Given the description of an element on the screen output the (x, y) to click on. 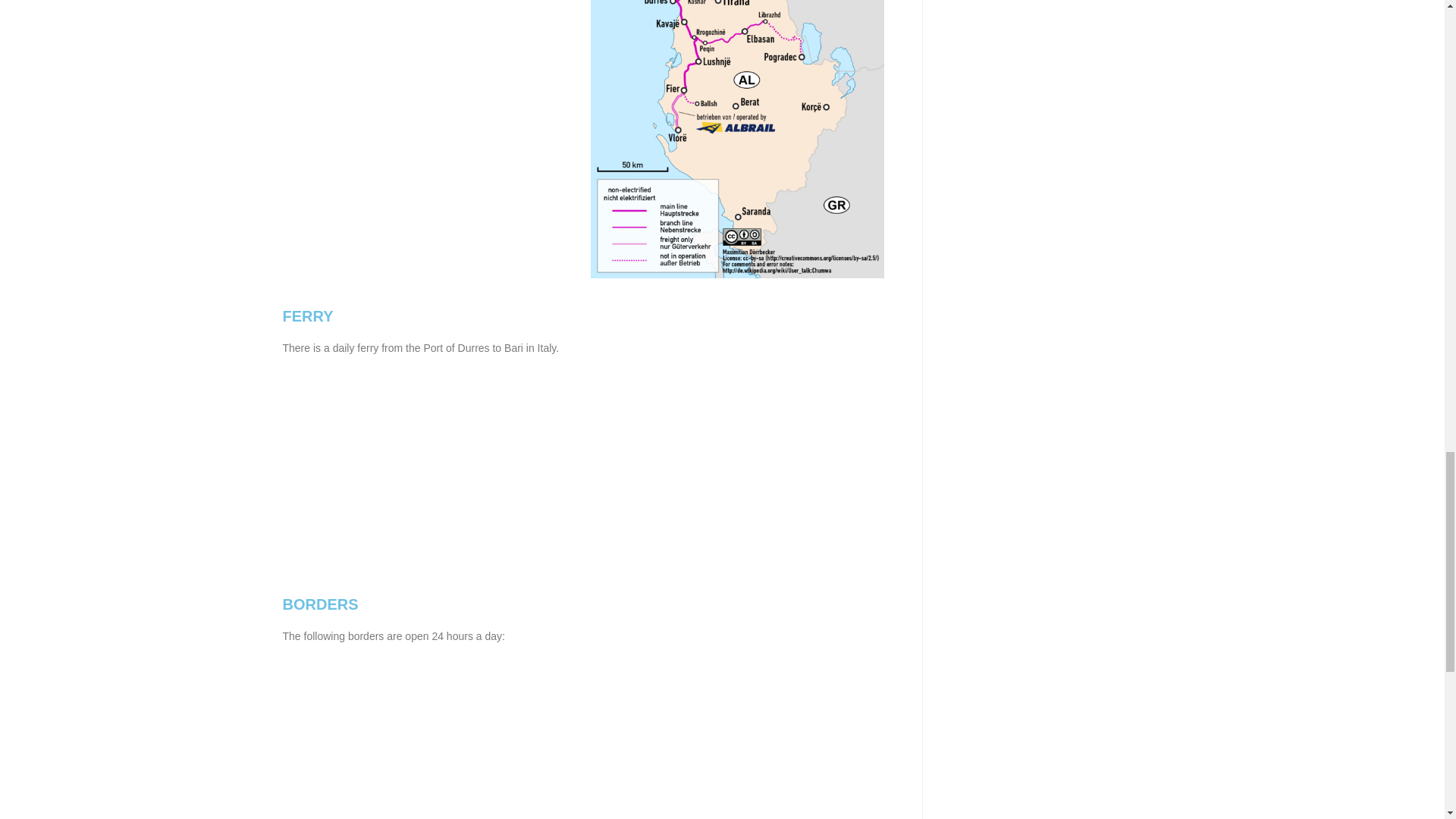
Port of Durres (737, 452)
Tirana bus station (737, 723)
